Given the description of an element on the screen output the (x, y) to click on. 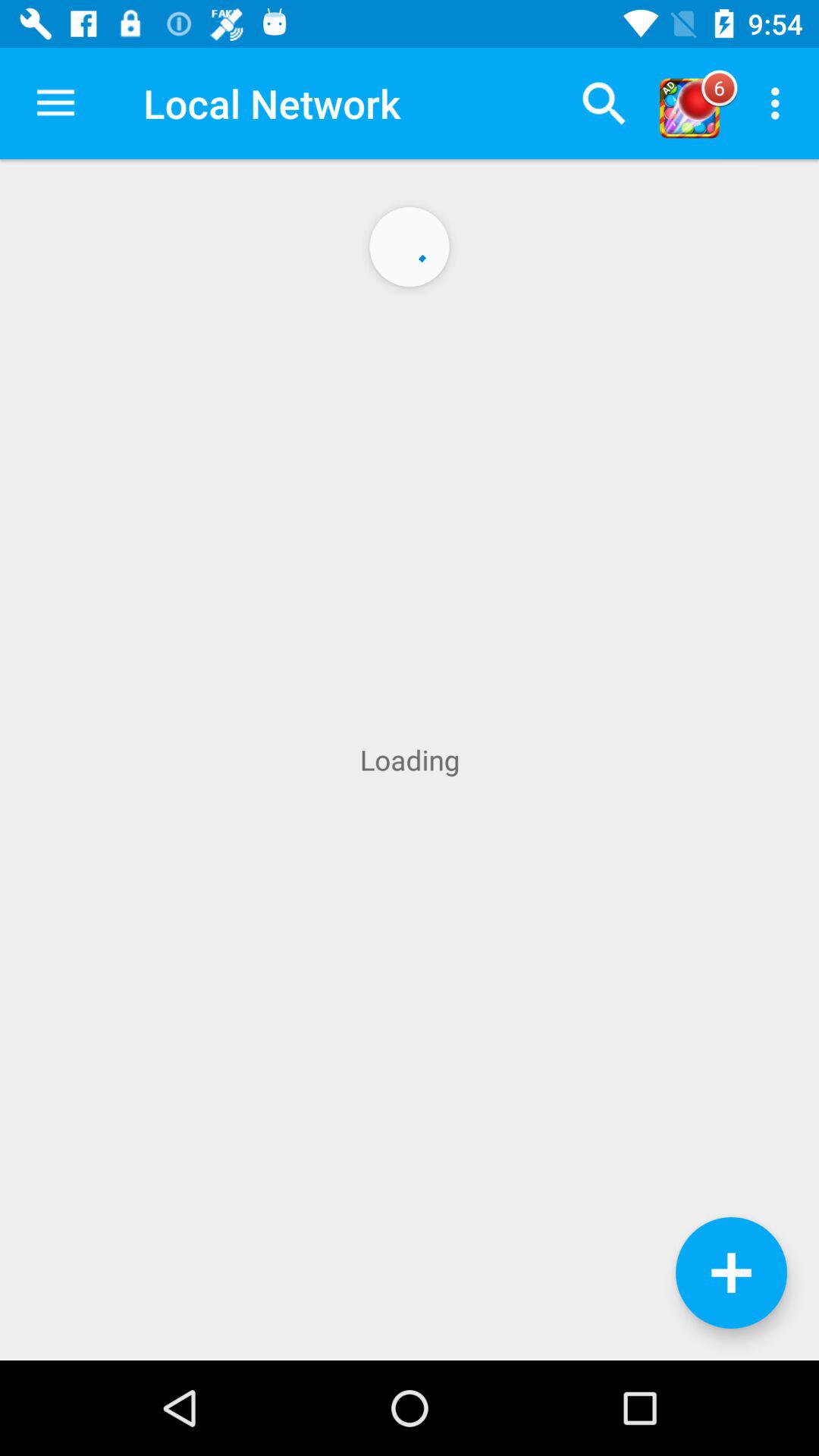
turn on the app to the right of local network icon (603, 103)
